Given the description of an element on the screen output the (x, y) to click on. 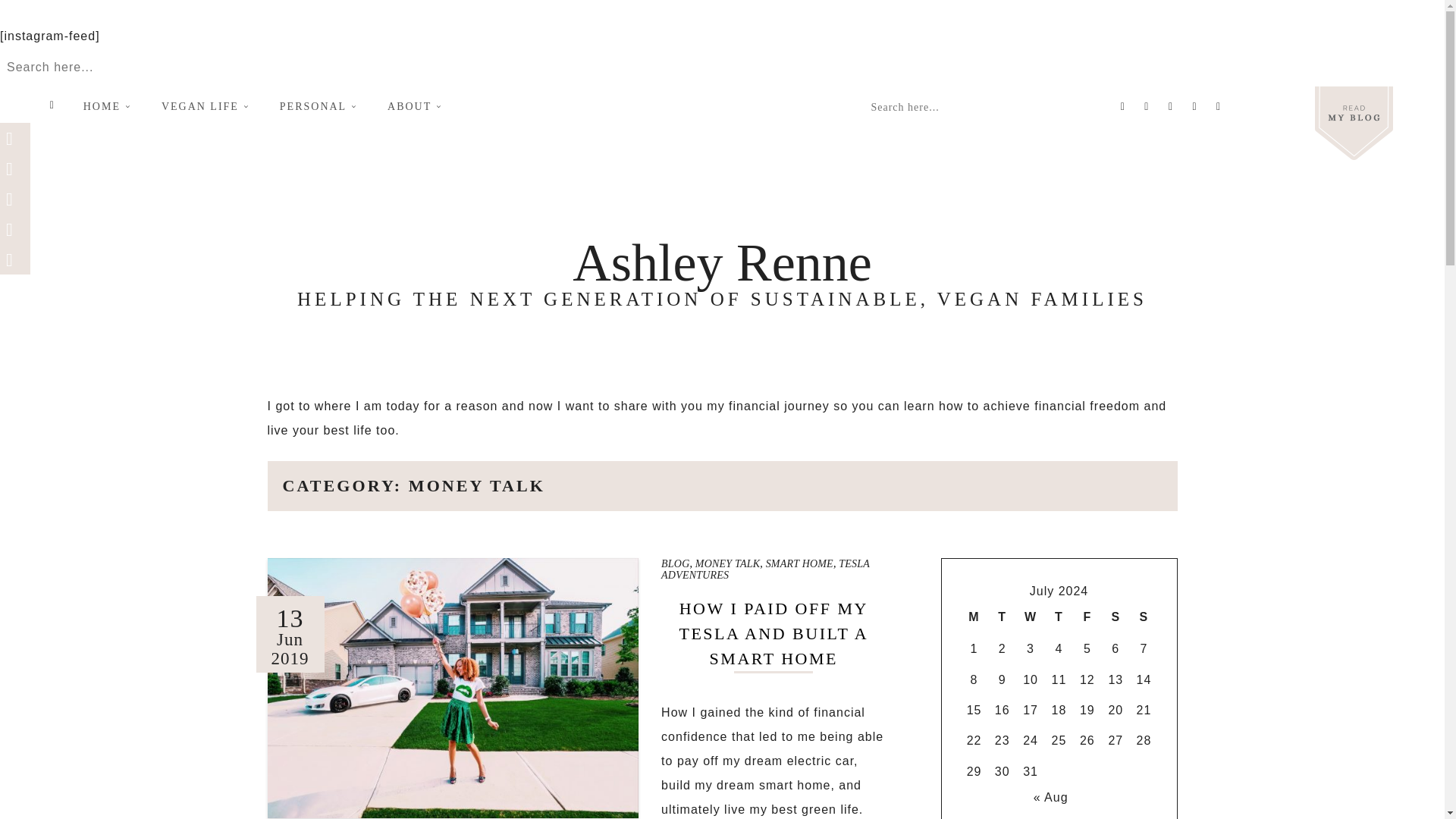
Twitter (1146, 105)
HOME (105, 106)
Facebook (1122, 105)
MONEY TALK (727, 563)
HOW I PAID OFF MY TESLA AND BUILT A SMART HOME (772, 633)
TESLA ADVENTURES (765, 568)
Pinterest (1170, 105)
Instagram (1194, 105)
Ashley Renne (722, 262)
ABOUT (412, 106)
VEGAN LIFE (203, 106)
SMART HOME (798, 563)
Youtube (1218, 105)
PERSONAL (316, 106)
BLOG (674, 563)
